Given the description of an element on the screen output the (x, y) to click on. 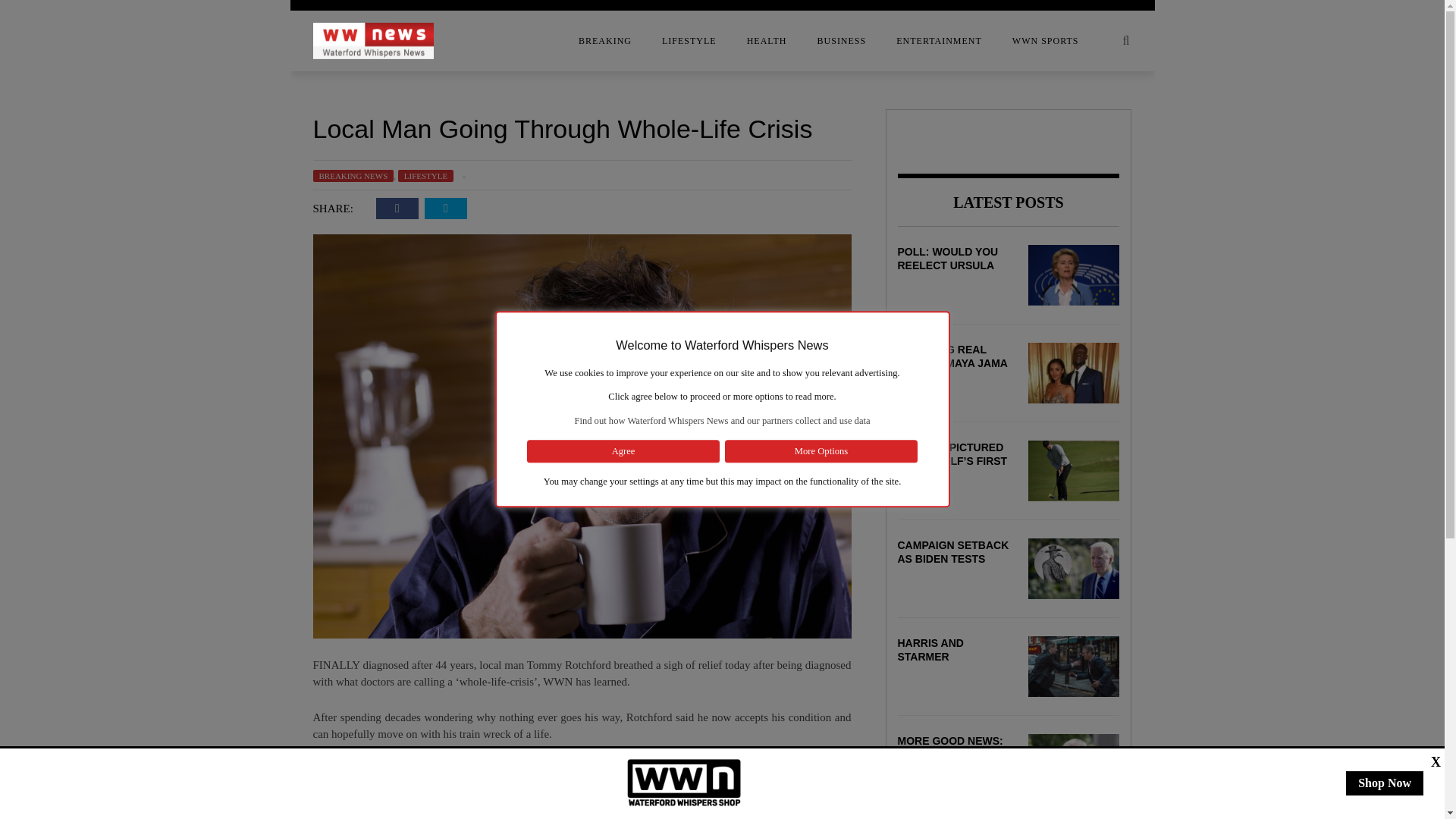
YOUR PRIVACY SETTINGS (191, 268)
Support us on waterfordwhispers.shop (684, 782)
DISCLAIMER (191, 146)
NEWSLETTER SIGN UP FORM (191, 207)
HOMEPAGE (191, 177)
BREAKING (604, 40)
COMPETITION RULES (191, 86)
CONTACT US (191, 116)
PRIVACY (191, 237)
